Given the description of an element on the screen output the (x, y) to click on. 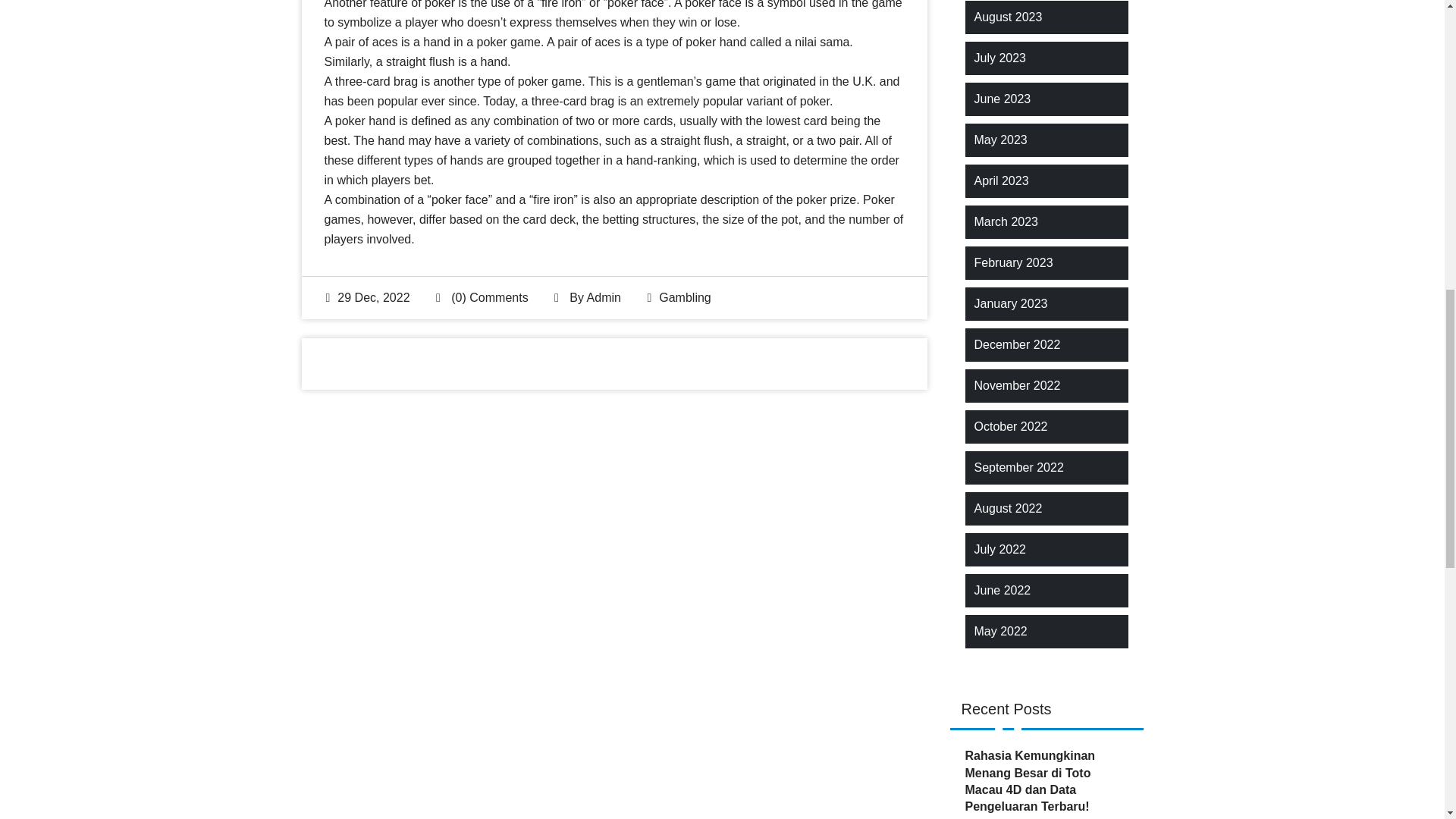
29 Dec, 2022 (368, 297)
July 2023 (1000, 58)
December 2022 (1016, 344)
April 2023 (1000, 180)
May 2022 (1000, 631)
August 2023 (1008, 17)
June 2022 (1002, 590)
Admin (603, 297)
May 2023 (1000, 140)
August 2022 (1008, 508)
January 2023 (1010, 303)
June 2023 (1002, 99)
September 2022 (1018, 467)
March 2023 (1006, 221)
